Given the description of an element on the screen output the (x, y) to click on. 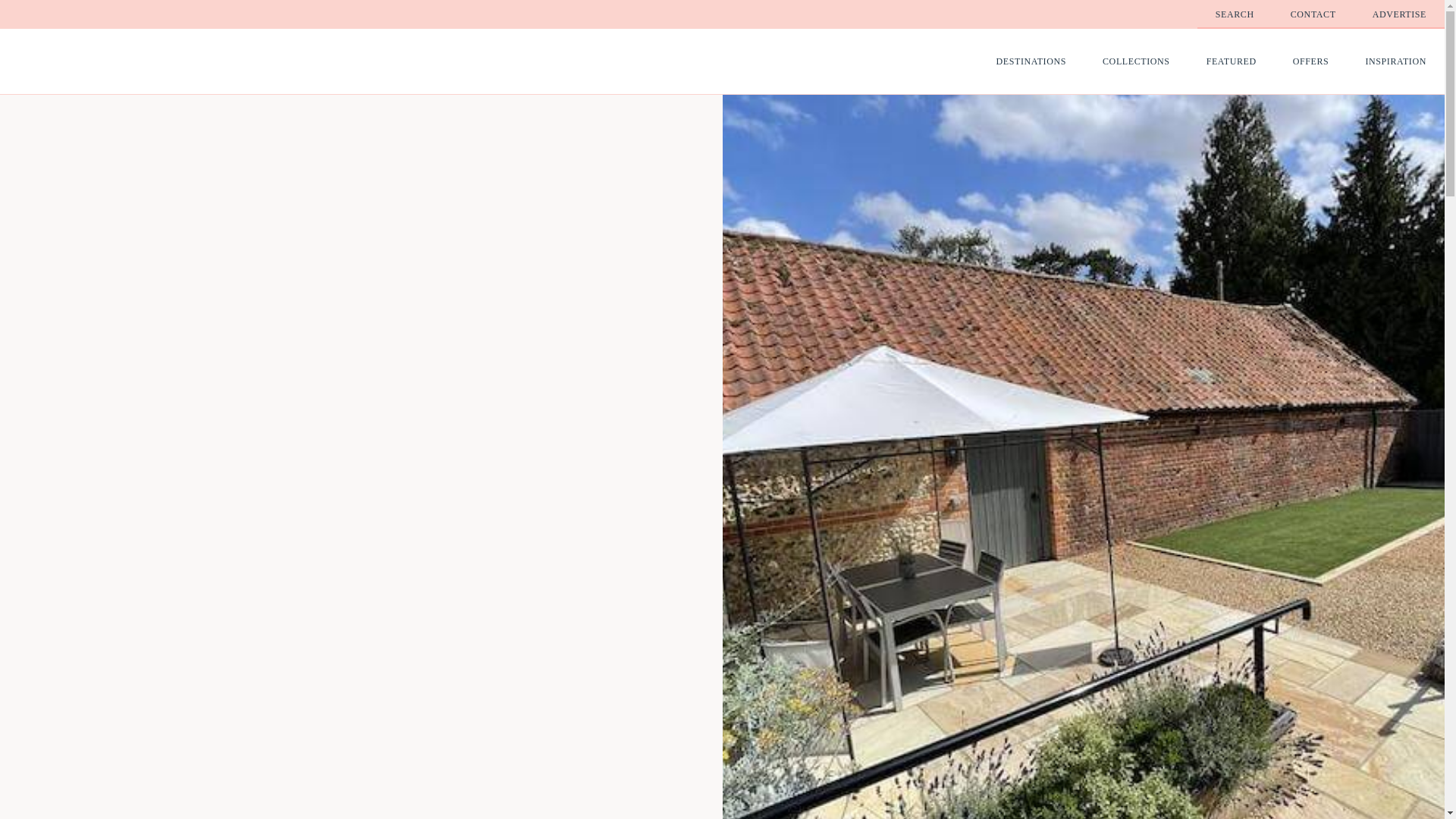
COLLECTIONS (1136, 61)
DESTINATIONS (1030, 61)
SEARCH (1234, 14)
FEATURED (1231, 61)
OFFERS (1311, 61)
CONTACT (1313, 14)
